Given the description of an element on the screen output the (x, y) to click on. 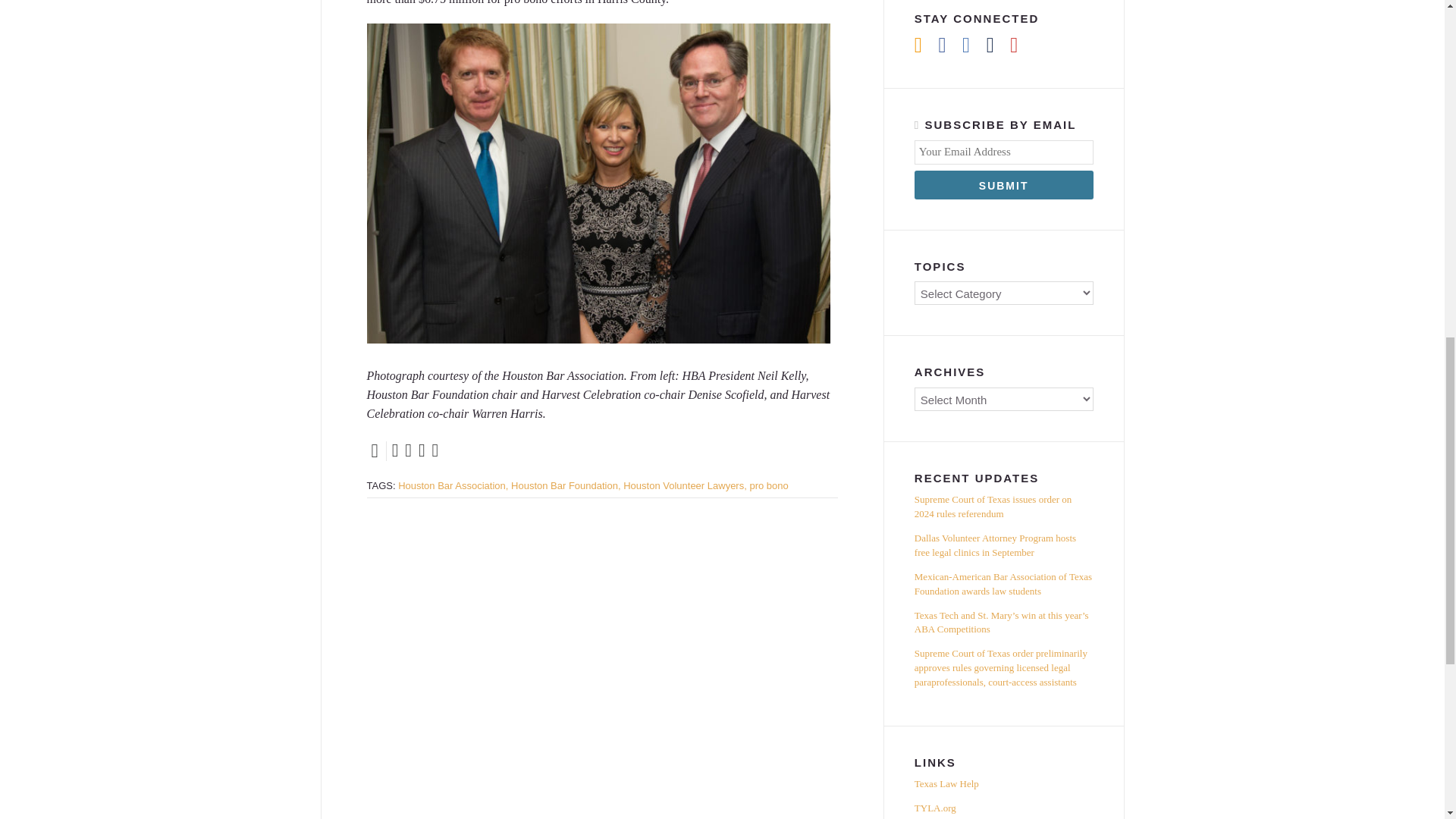
Houston Volunteer Lawyers, (684, 485)
SUBMIT (1003, 184)
pro bono (768, 485)
Supreme Court of Texas issues order on 2024 rules referendum (1003, 509)
SUBMIT (1003, 184)
Houston Bar Association, (452, 485)
Houston Bar Foundation, (566, 485)
